Given the description of an element on the screen output the (x, y) to click on. 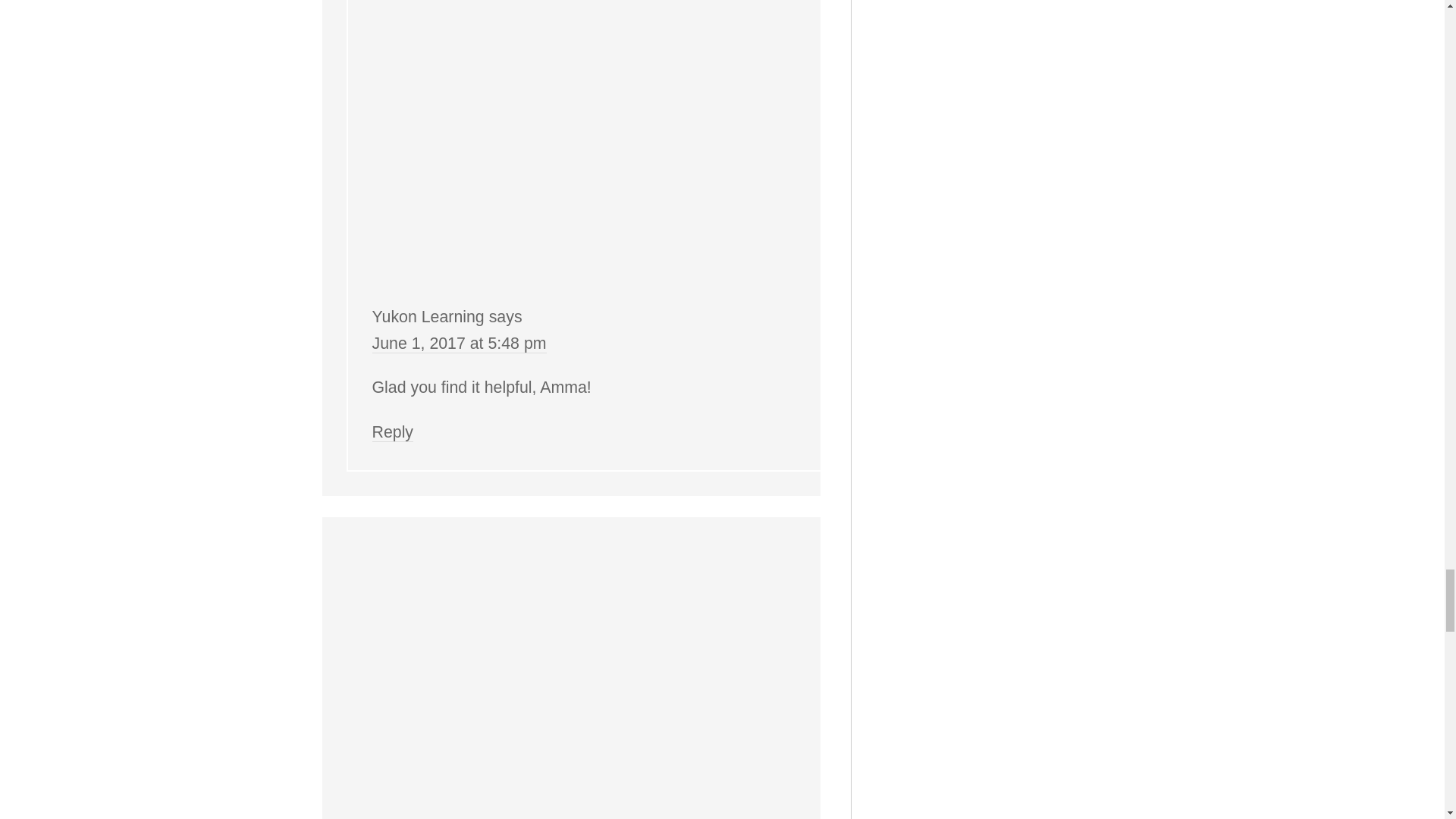
June 1, 2017 at 5:48 pm (458, 343)
Reply (392, 432)
